Given the description of an element on the screen output the (x, y) to click on. 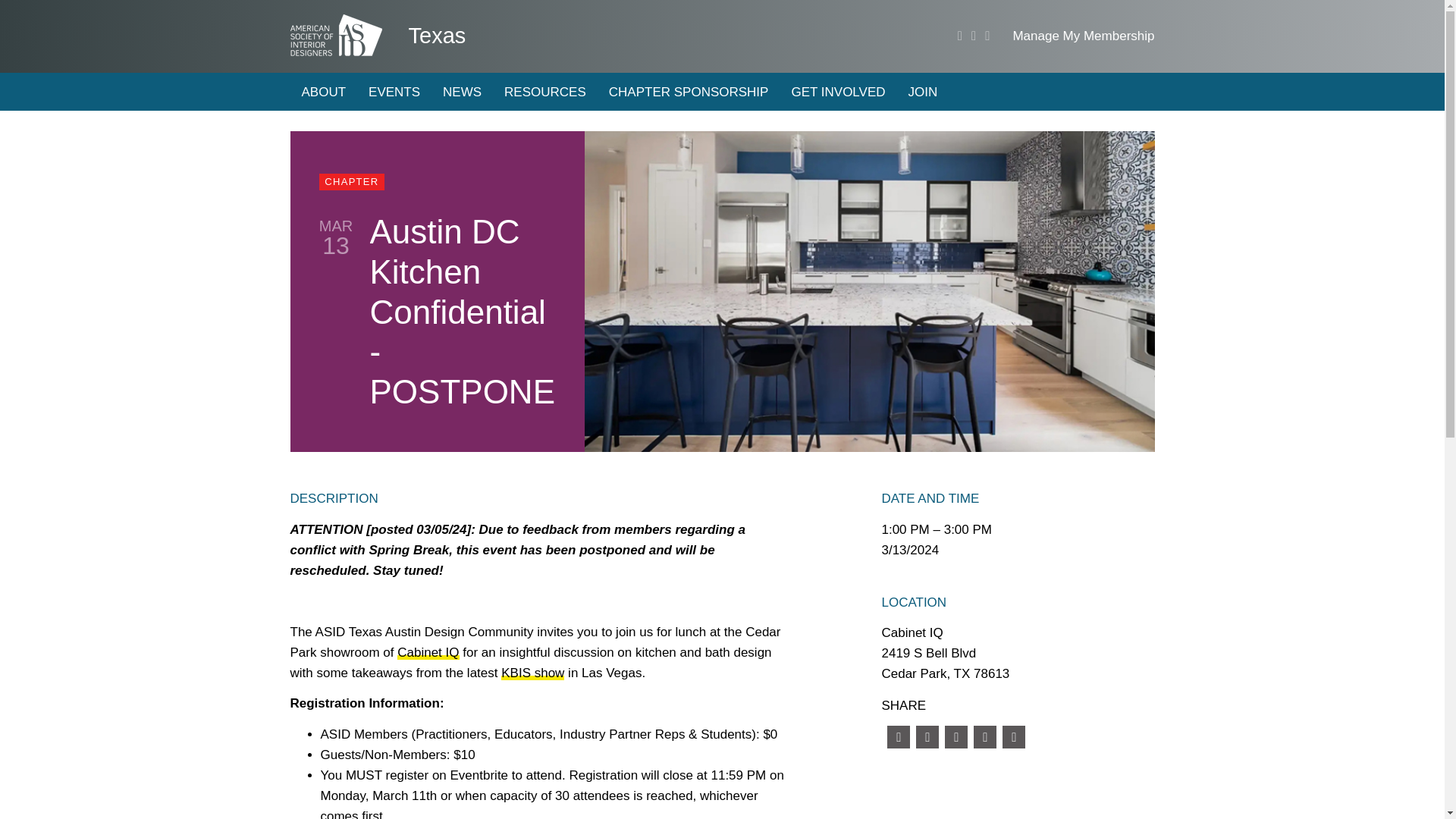
Share on Twitter (927, 736)
Manage My Membership (1082, 35)
Share on Pinterest (984, 736)
Texas (436, 35)
American Society of Interior Designers (335, 34)
Share on LinkedIn (956, 736)
Share via email (1014, 736)
Share on Facebook (898, 736)
